Given the description of an element on the screen output the (x, y) to click on. 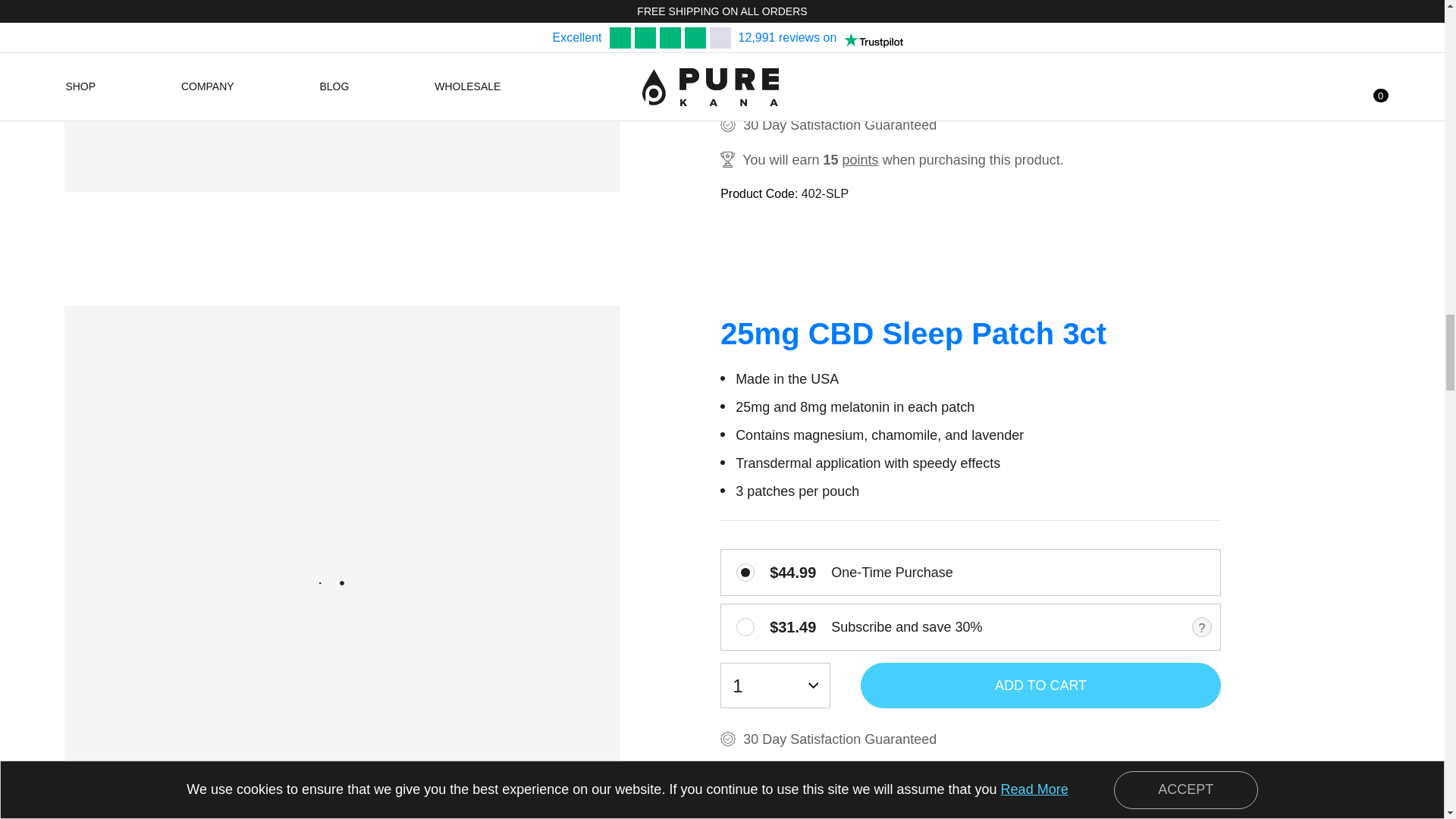
1 (745, 13)
1 (745, 627)
0 (745, 572)
